Given the description of an element on the screen output the (x, y) to click on. 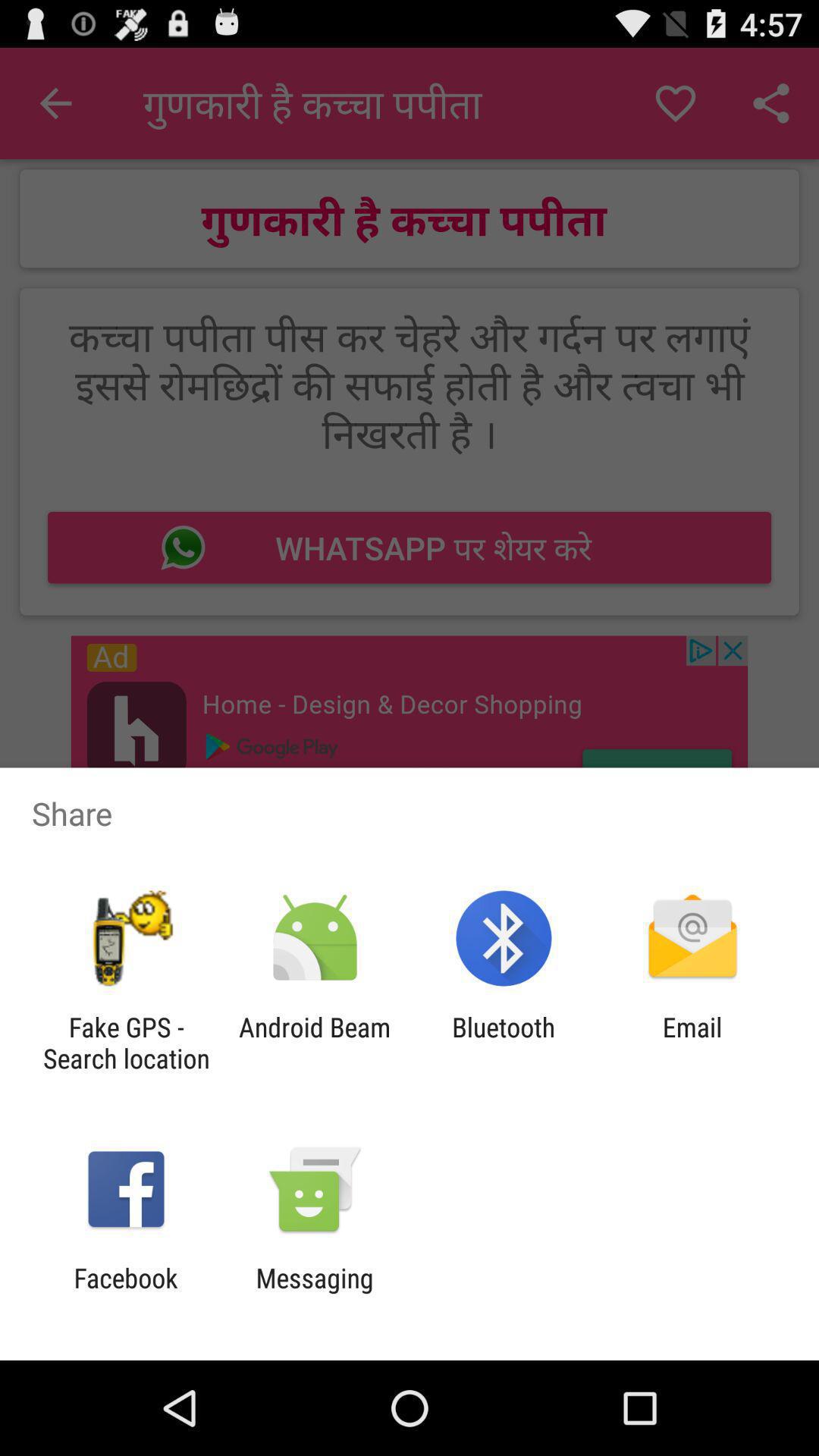
turn off the facebook (125, 1293)
